Given the description of an element on the screen output the (x, y) to click on. 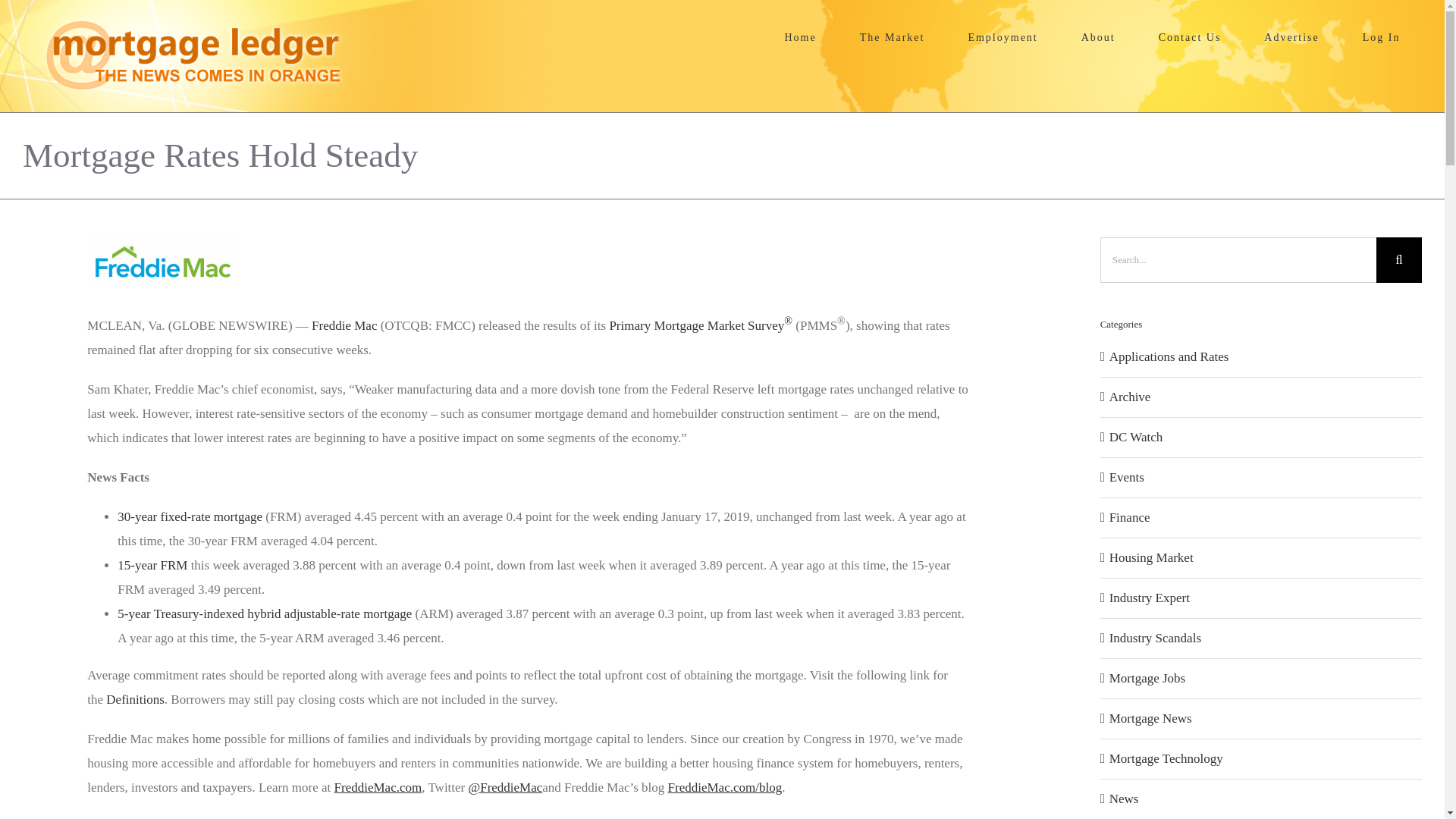
15-year FRM (152, 564)
About (1098, 38)
Employment (1002, 38)
The Market (892, 38)
Home (800, 38)
Freddie Mac (344, 325)
Freddie-Mac-Logo-PNG (162, 261)
5-year Treasury-indexed hybrid adjustable-rate mortgage (264, 613)
Contact Us (1190, 38)
30-year fixed-rate mortgage (189, 516)
Log In (1381, 38)
Advertise (1291, 38)
